Given the description of an element on the screen output the (x, y) to click on. 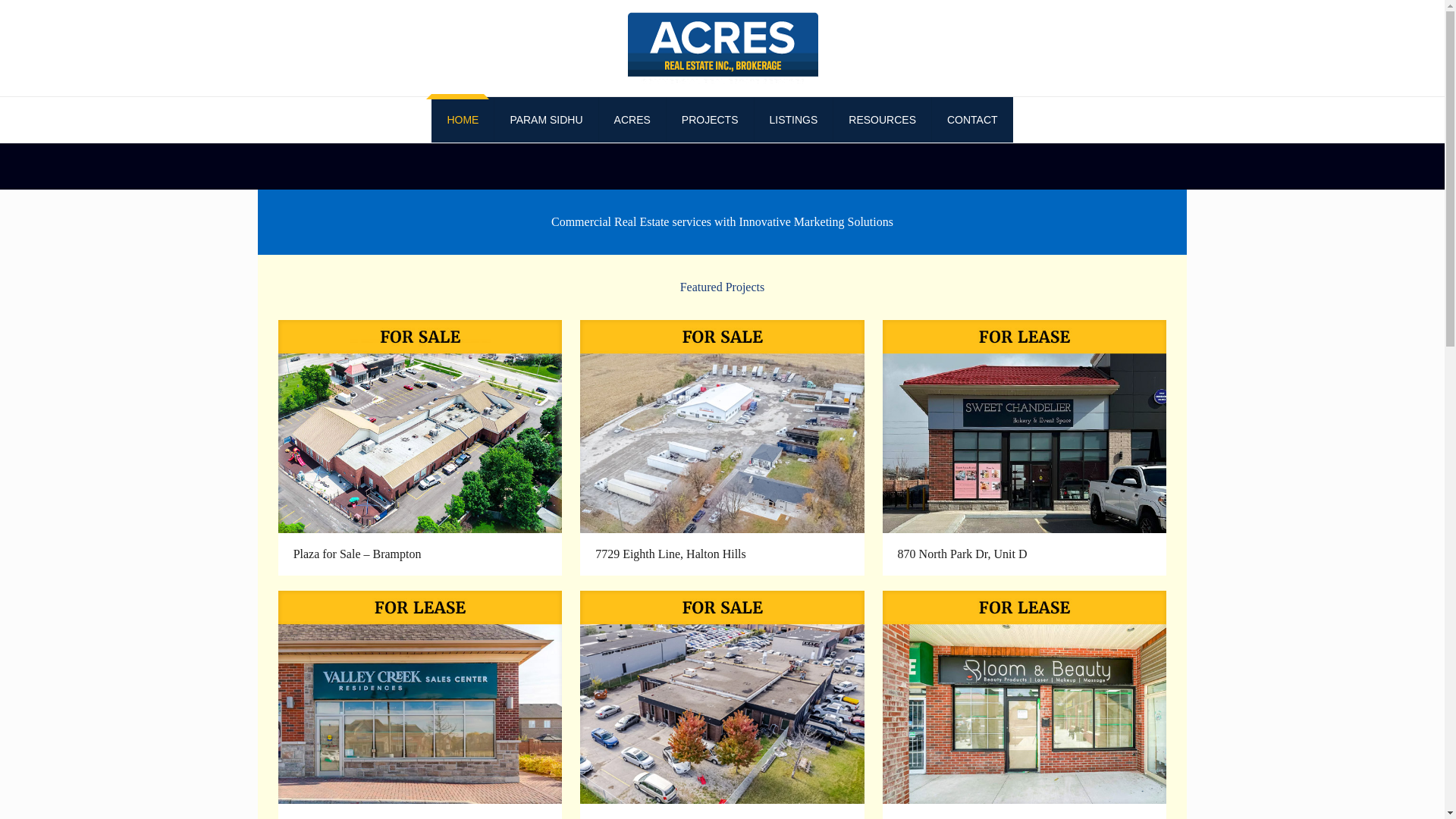
PROJECTS (710, 119)
RESOURCES (881, 119)
HOME (462, 119)
Acres Real Estate Inc. (721, 48)
LISTINGS (793, 119)
PARAM SIDHU (546, 119)
ACRES (632, 119)
CONTACT (972, 119)
